Given the description of an element on the screen output the (x, y) to click on. 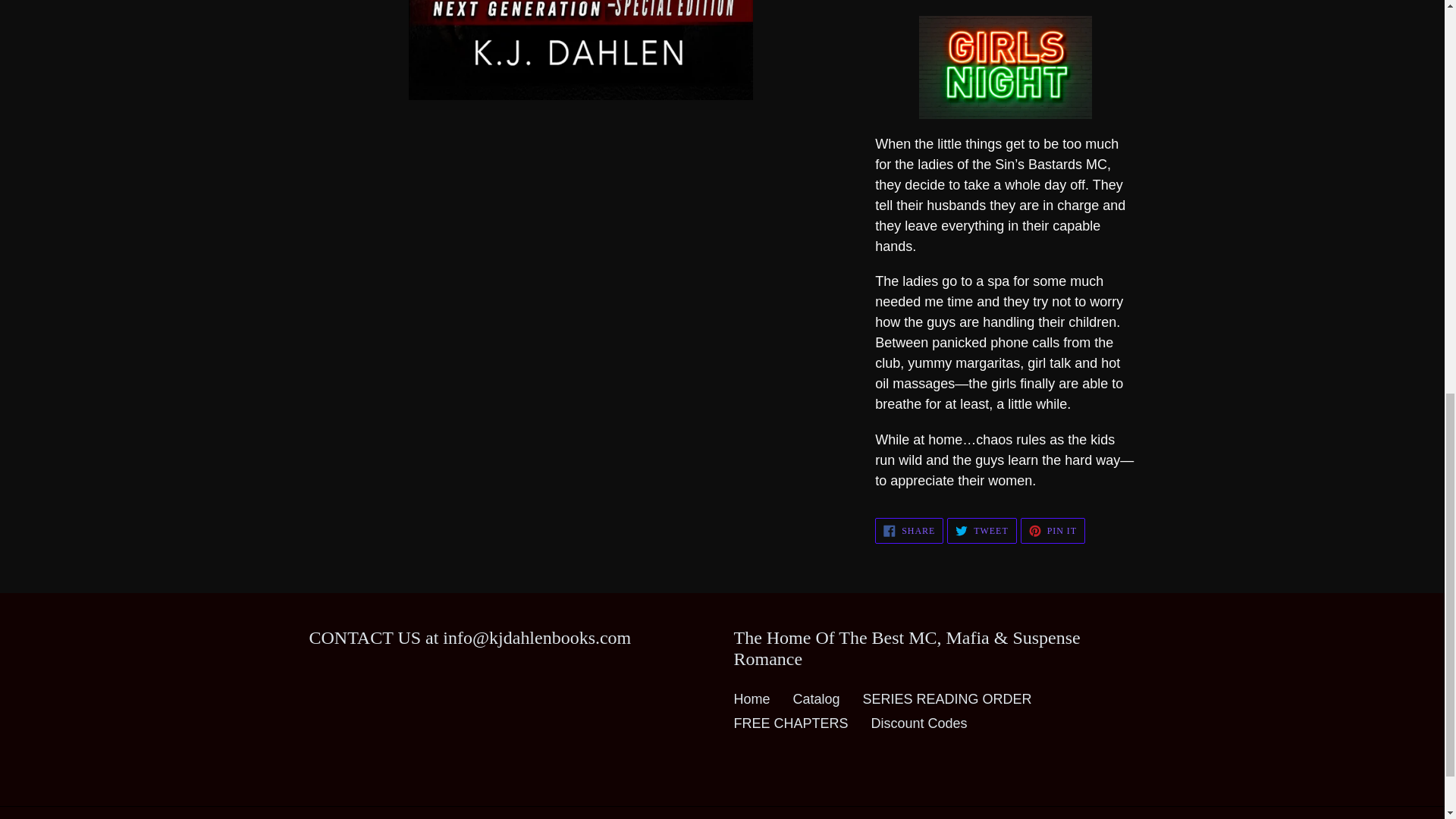
FREE CHAPTERS (790, 723)
Home (1052, 530)
Catalog (981, 530)
SERIES READING ORDER (751, 698)
Discount Codes (816, 698)
